Given the description of an element on the screen output the (x, y) to click on. 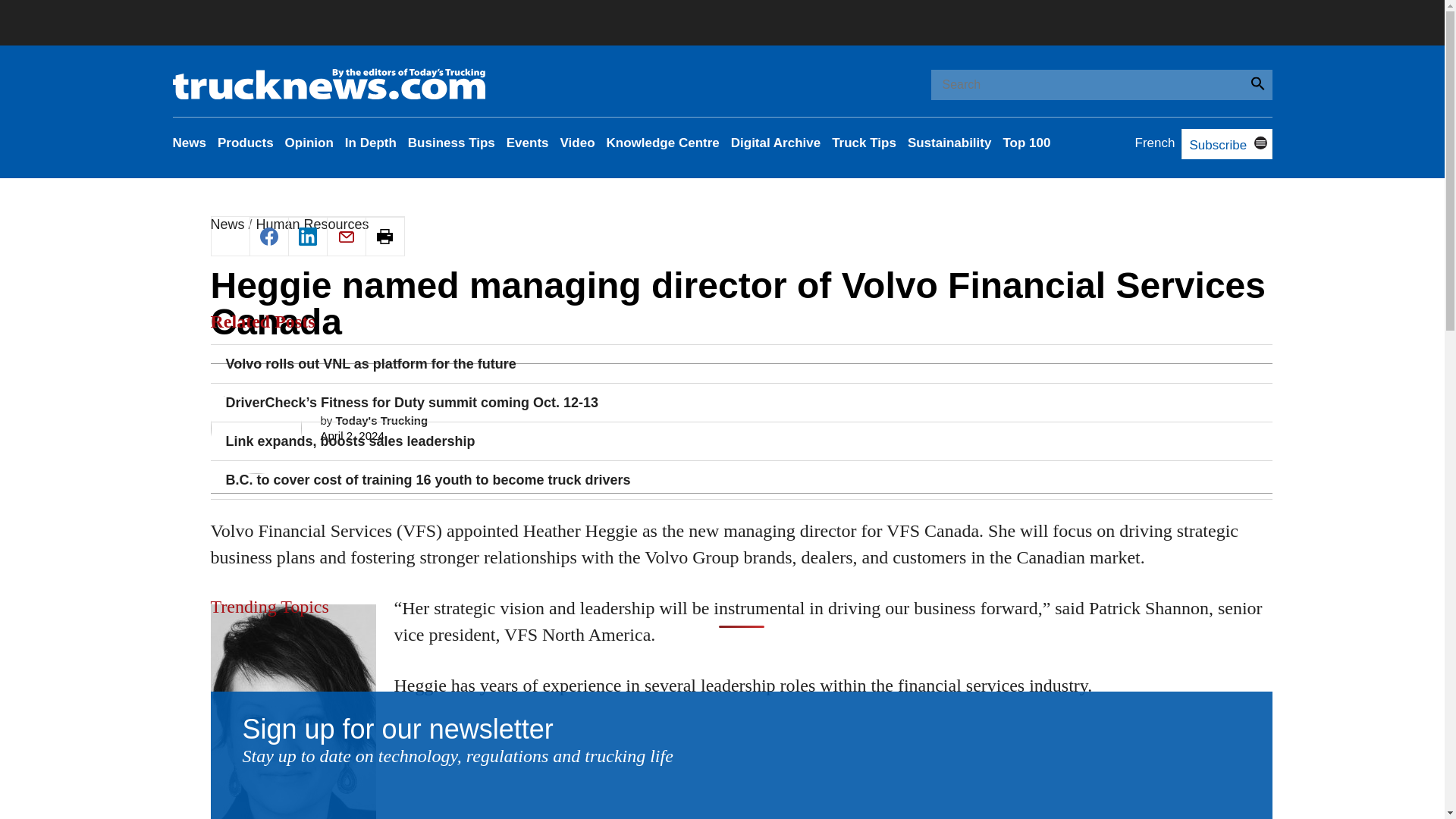
Business Tips (451, 142)
In Depth (370, 142)
Products (244, 142)
French (1154, 142)
Knowledge Centre (663, 142)
Opinion (309, 142)
Truck Tips (863, 142)
Events (527, 142)
Digital Archive (775, 142)
Sustainability (949, 142)
